Given the description of an element on the screen output the (x, y) to click on. 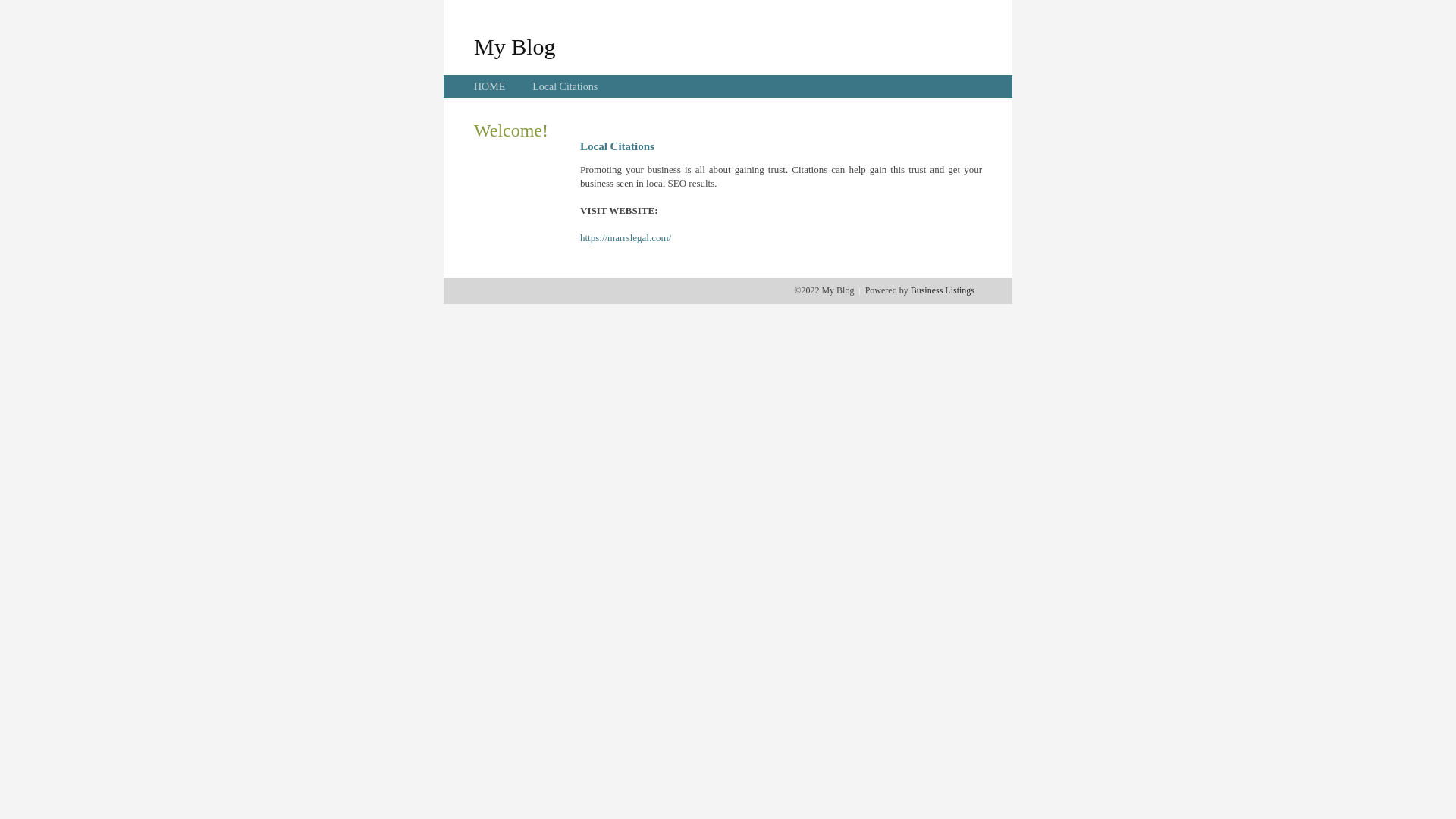
HOME Element type: text (489, 86)
My Blog Element type: text (514, 46)
Business Listings Element type: text (942, 290)
https://marrslegal.com/ Element type: text (625, 237)
Local Citations Element type: text (564, 86)
